Given the description of an element on the screen output the (x, y) to click on. 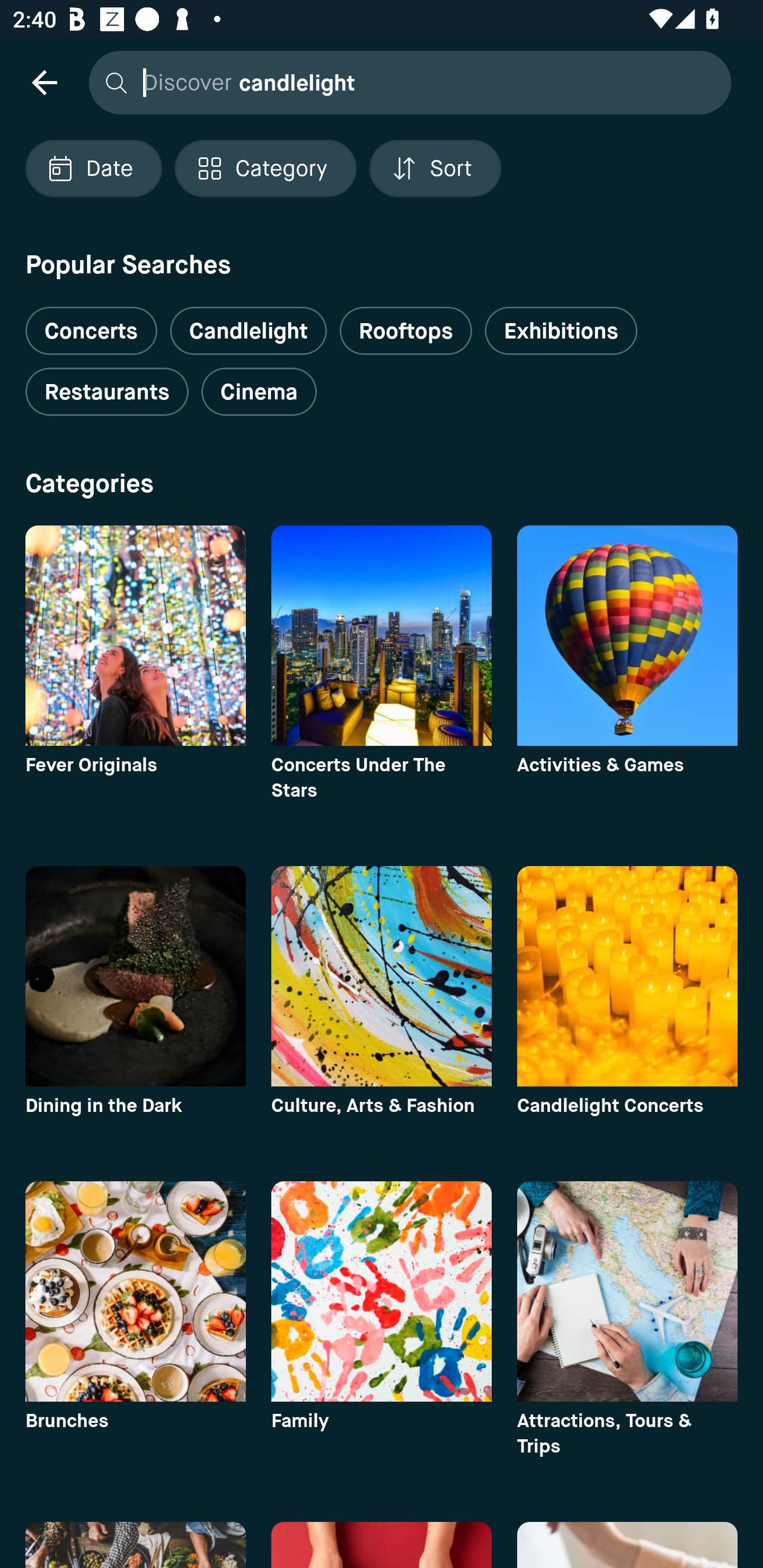
navigation icon (44, 81)
Discover candlelight (405, 81)
Localized description Date (93, 168)
Localized description Category (265, 168)
Localized description Sort (435, 168)
Concerts (91, 323)
Candlelight (248, 330)
Rooftops (405, 330)
Exhibitions (560, 330)
Restaurants (106, 391)
Cinema (258, 391)
category image (135, 635)
category image (381, 635)
category image (627, 635)
category image (135, 975)
category image (381, 975)
category image (627, 975)
category image (135, 1290)
category image (381, 1290)
category image (627, 1290)
